Given the description of an element on the screen output the (x, y) to click on. 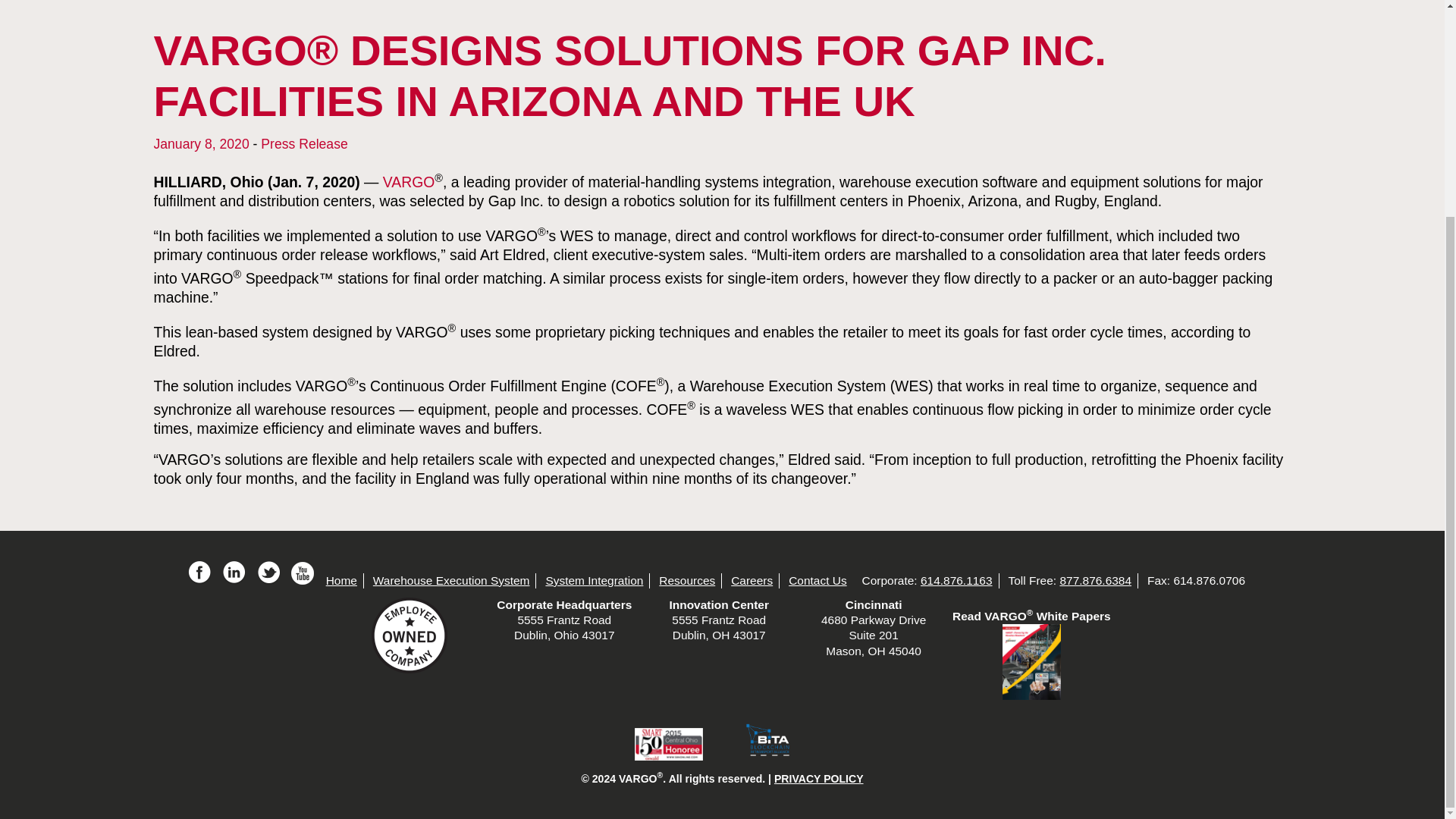
Press Release (303, 143)
January 8, 2020 (200, 143)
VARGO (408, 181)
